Given the description of an element on the screen output the (x, y) to click on. 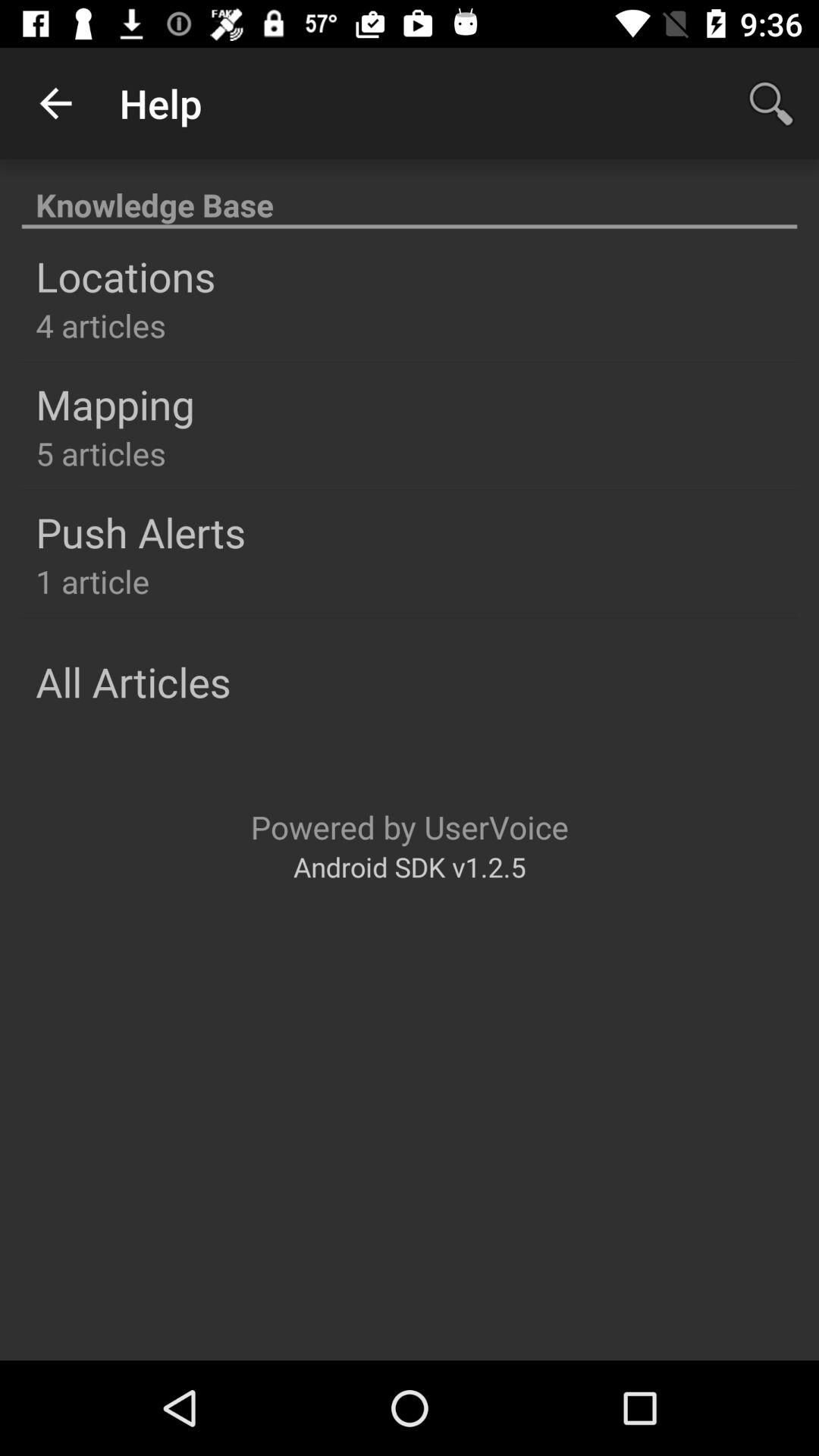
turn off powered by uservoice icon (409, 826)
